Given the description of an element on the screen output the (x, y) to click on. 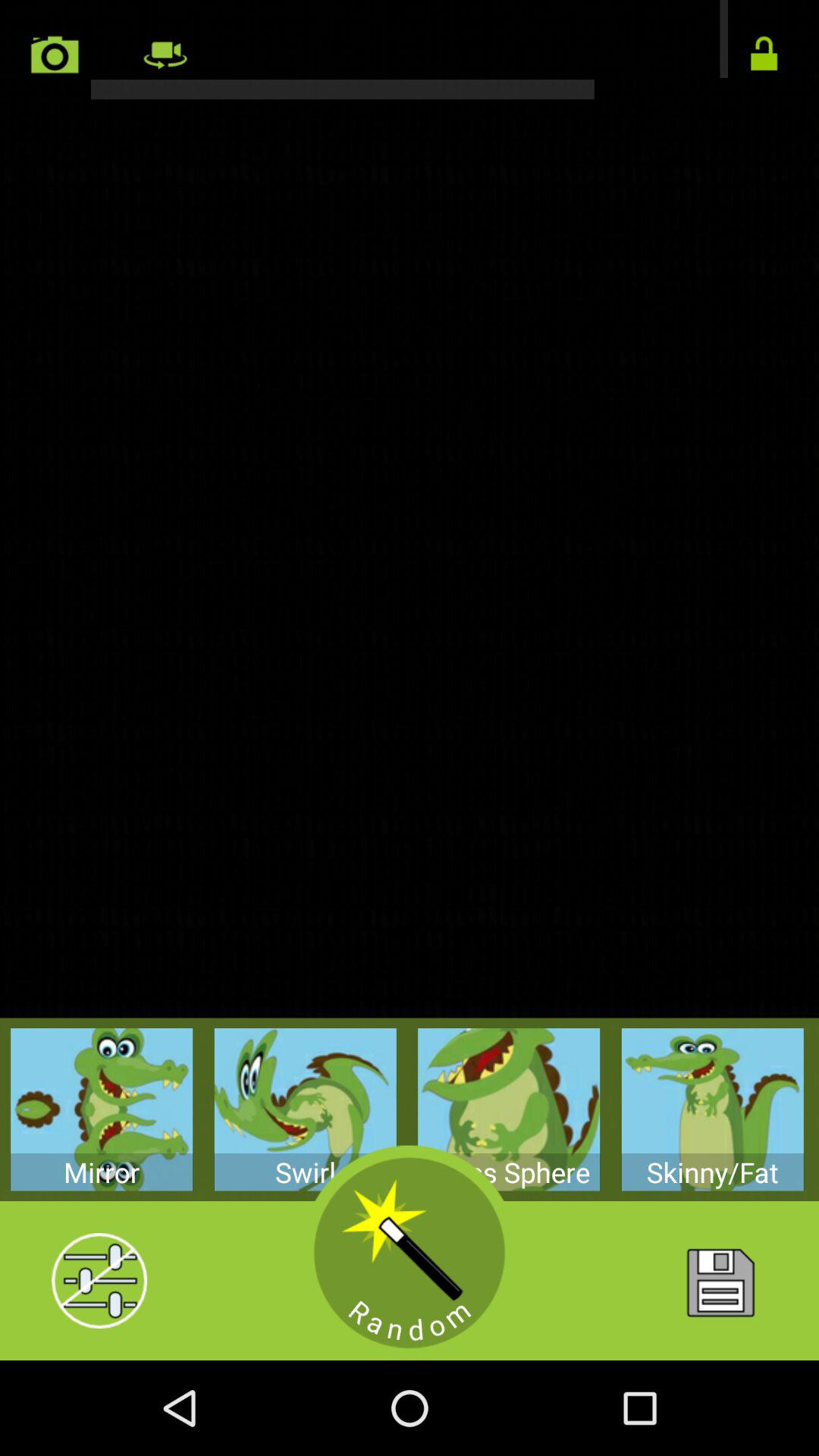
switch between front and rear cameras (409, 49)
